Given the description of an element on the screen output the (x, y) to click on. 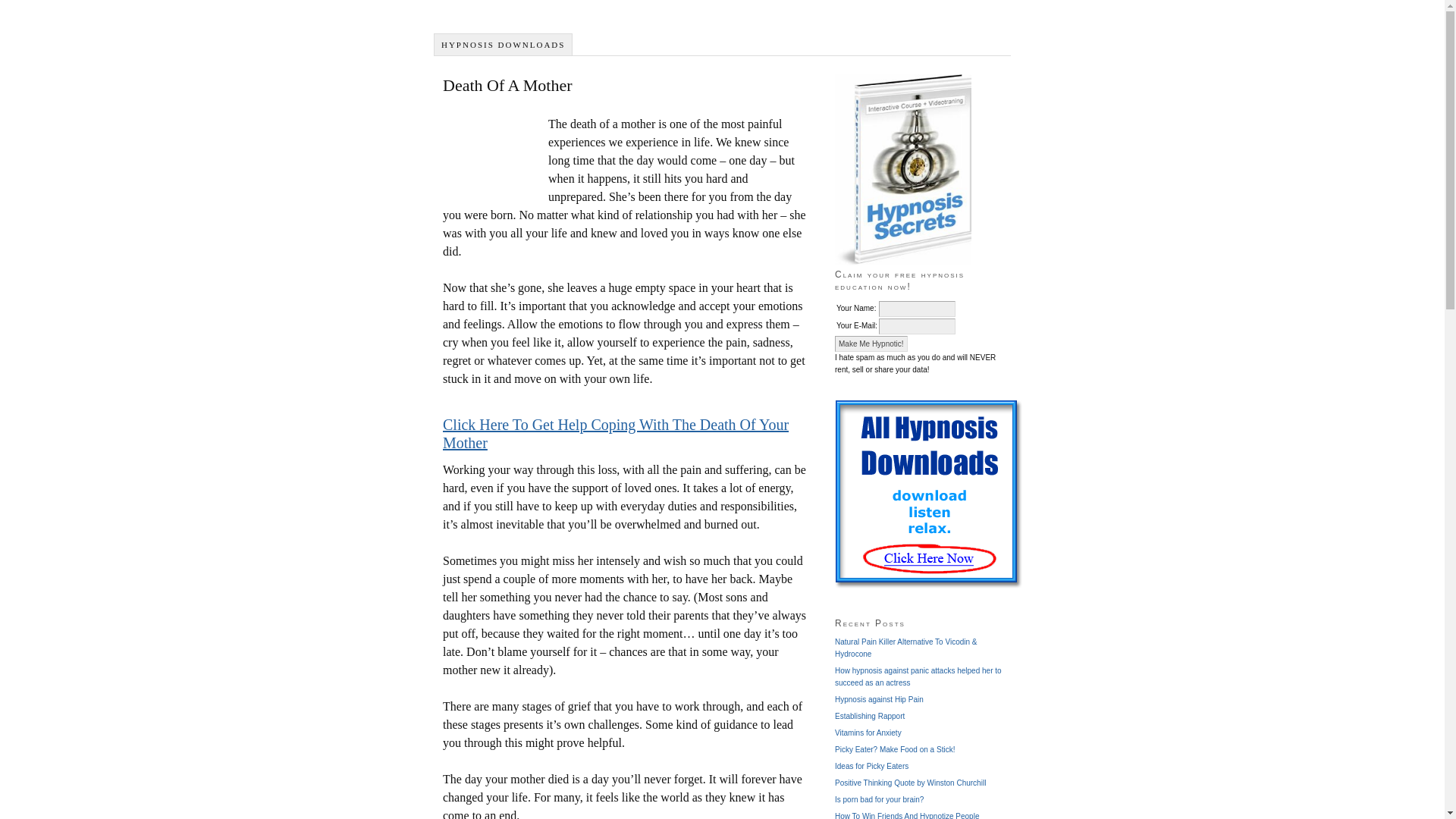
Is porn bad for your brain? (878, 799)
Ideas for Picky Eaters (871, 766)
Death Of A Mother Help (615, 433)
HYPNOSIS DOWNLOADS (502, 44)
Hypnosis against Hip Pain (878, 699)
Make Me Hypnotic! (870, 343)
Positive Thinking Quote by Winston Churchill (909, 782)
Hypnosis against Hip Pain (878, 699)
